Given the description of an element on the screen output the (x, y) to click on. 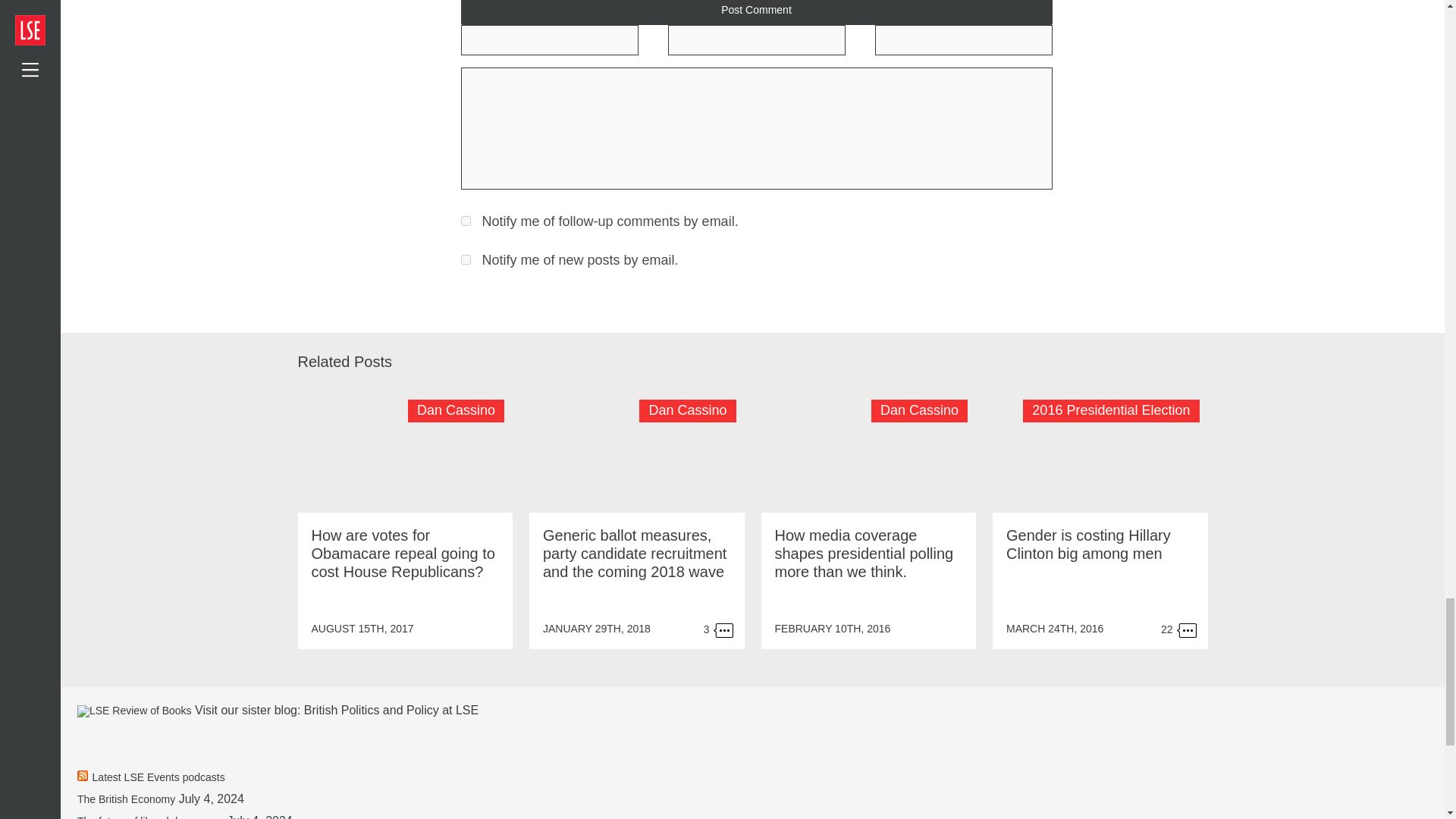
Post Comment (756, 12)
subscribe (465, 259)
Post Comment (756, 12)
subscribe (465, 221)
